Given the description of an element on the screen output the (x, y) to click on. 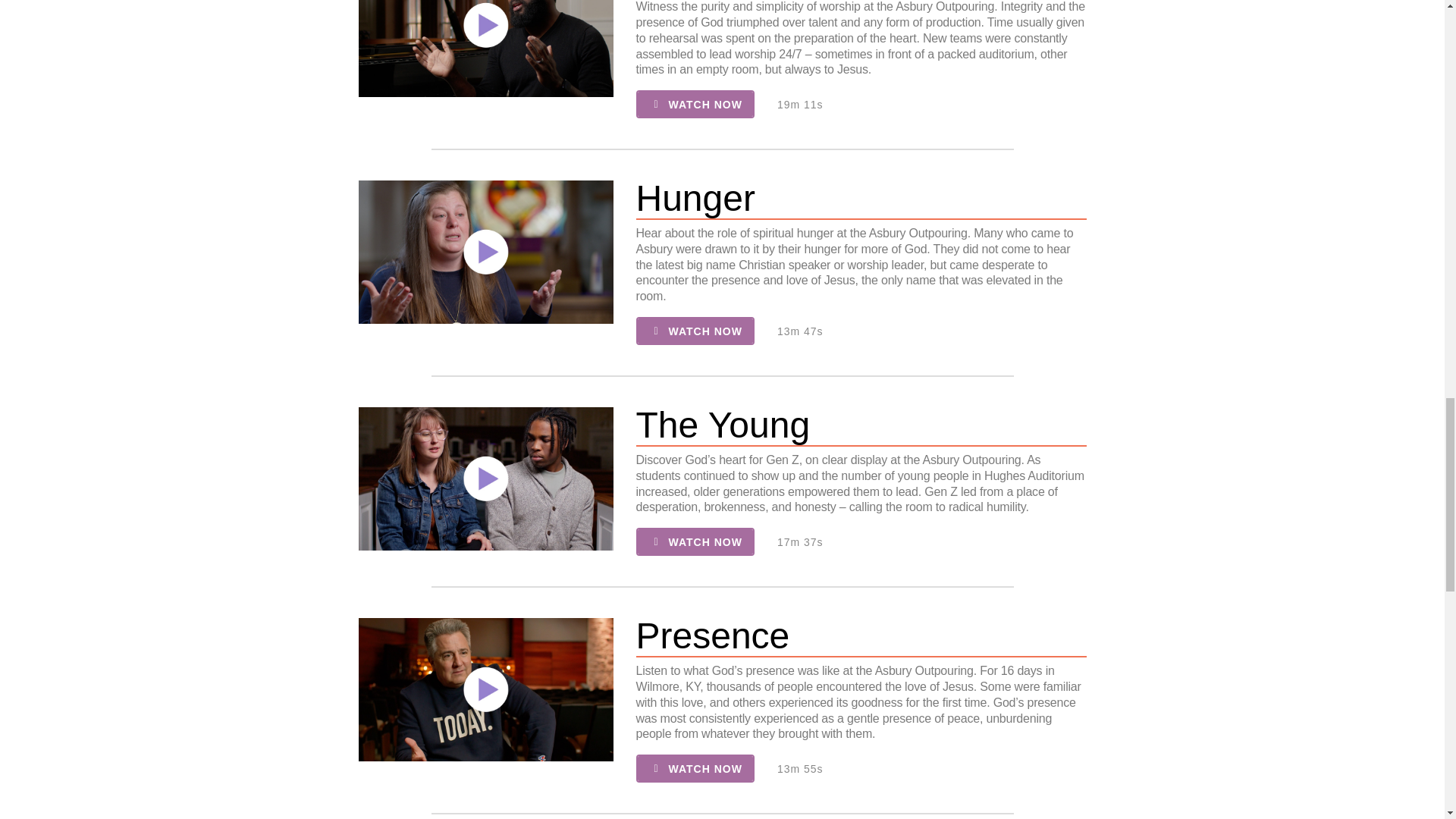
WATCH NOW (694, 541)
WATCH NOW (694, 768)
WATCH NOW (694, 330)
WATCH NOW (694, 103)
